Given the description of an element on the screen output the (x, y) to click on. 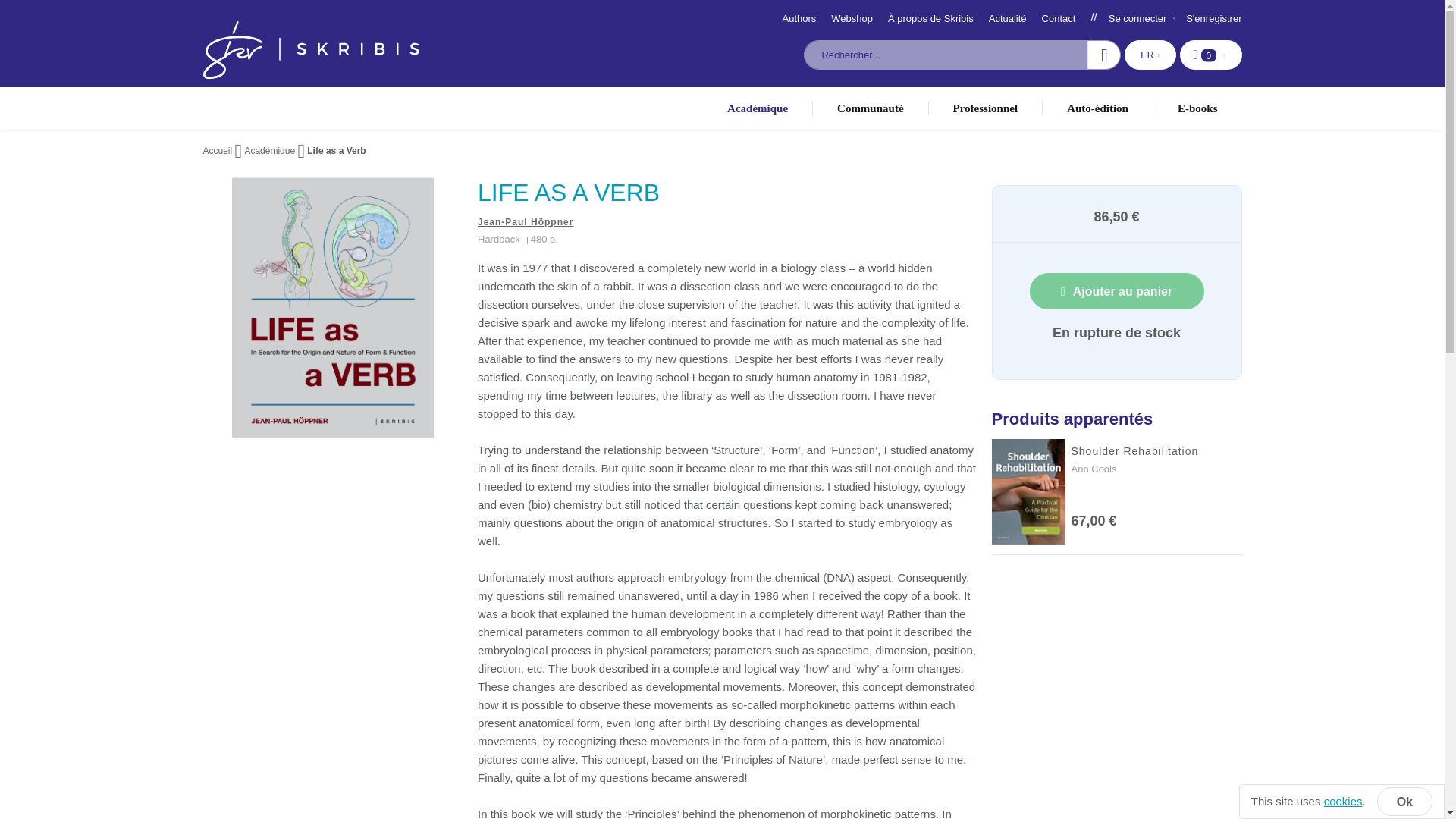
S'enregistrer (1213, 18)
Rechercher (1103, 54)
Skribis (311, 50)
Ajouter au panier (1116, 290)
Authors (799, 18)
Contact (1058, 18)
Shoulder Rehabilitation (1134, 451)
Rechercher (1103, 54)
cookies (1342, 800)
Webshop (851, 18)
Ok (1210, 54)
Se connecter (1404, 801)
